Given the description of an element on the screen output the (x, y) to click on. 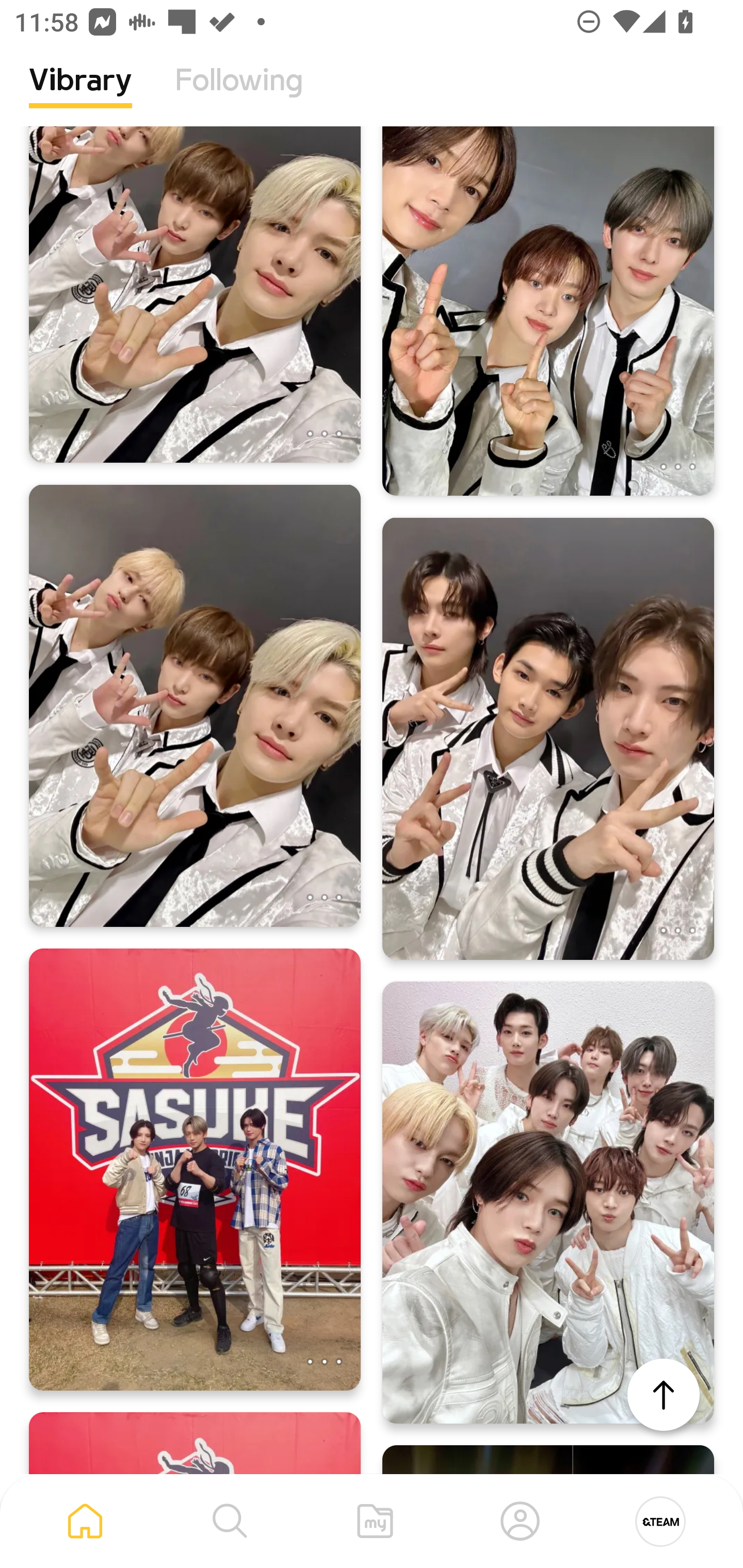
Vibrary (80, 95)
Following (239, 95)
